Given the description of an element on the screen output the (x, y) to click on. 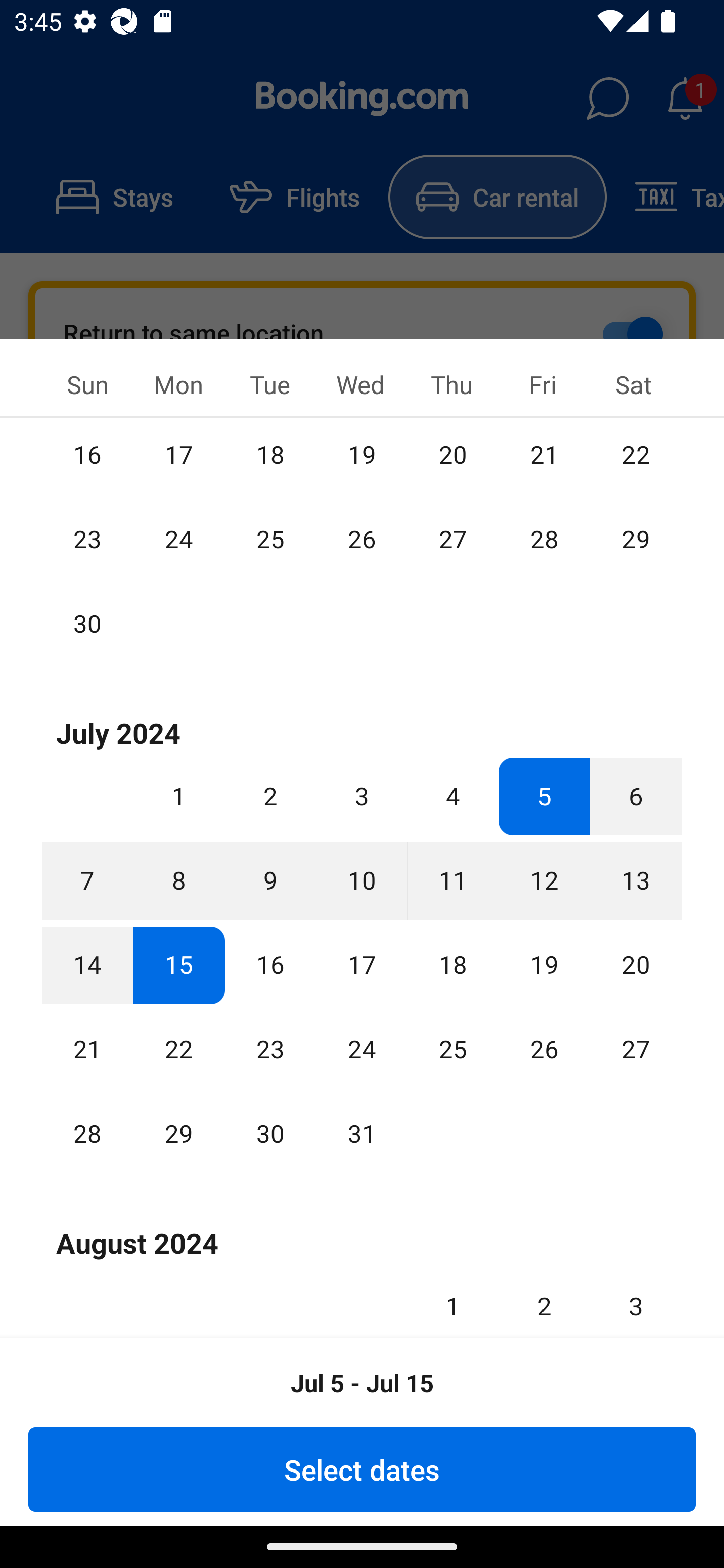
Select dates (361, 1468)
